Given the description of an element on the screen output the (x, y) to click on. 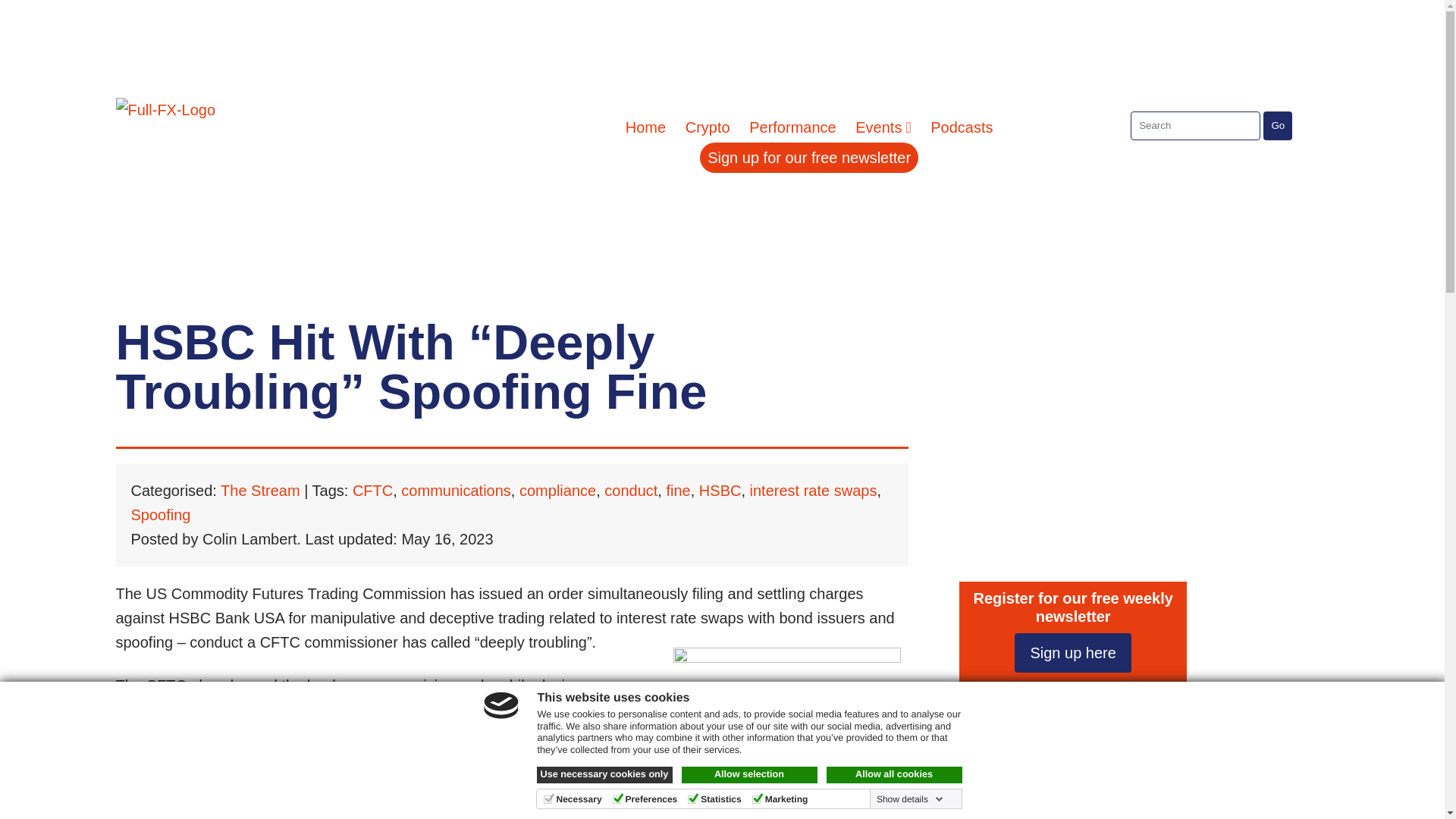
Go (1147, 735)
Show details (909, 799)
Go (1277, 124)
Use necessary cookies only (604, 774)
Allow selection (748, 774)
Go (1277, 124)
